Given the description of an element on the screen output the (x, y) to click on. 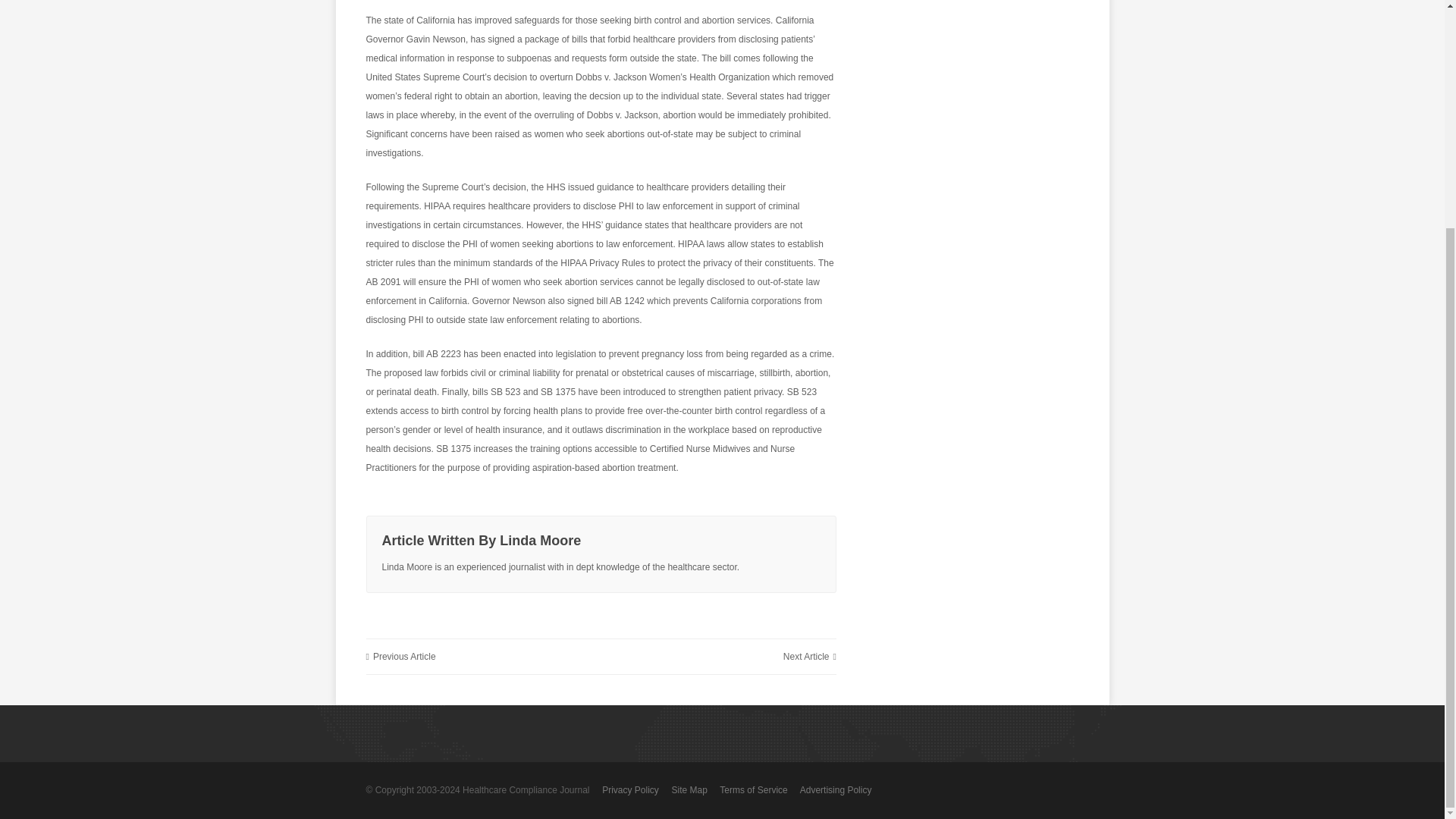
Privacy Policy (630, 789)
Next Article (809, 656)
Terms of Service (753, 789)
Site Map (689, 789)
Advertising Policy (835, 789)
Previous Article (400, 656)
